Given the description of an element on the screen output the (x, y) to click on. 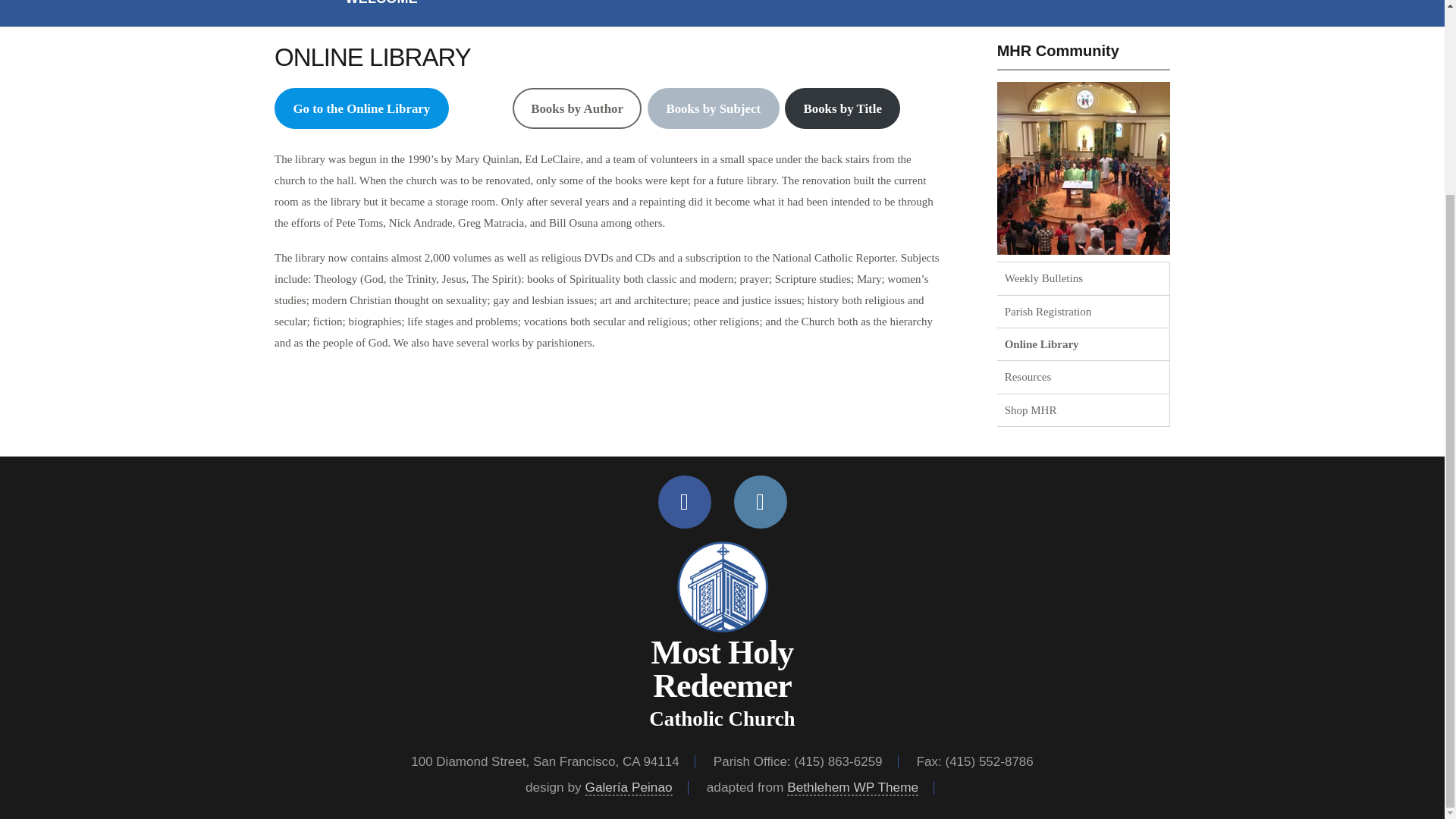
Instagram (760, 501)
CALENDAR EVENTS (489, 2)
Facebook (684, 501)
